Given the description of an element on the screen output the (x, y) to click on. 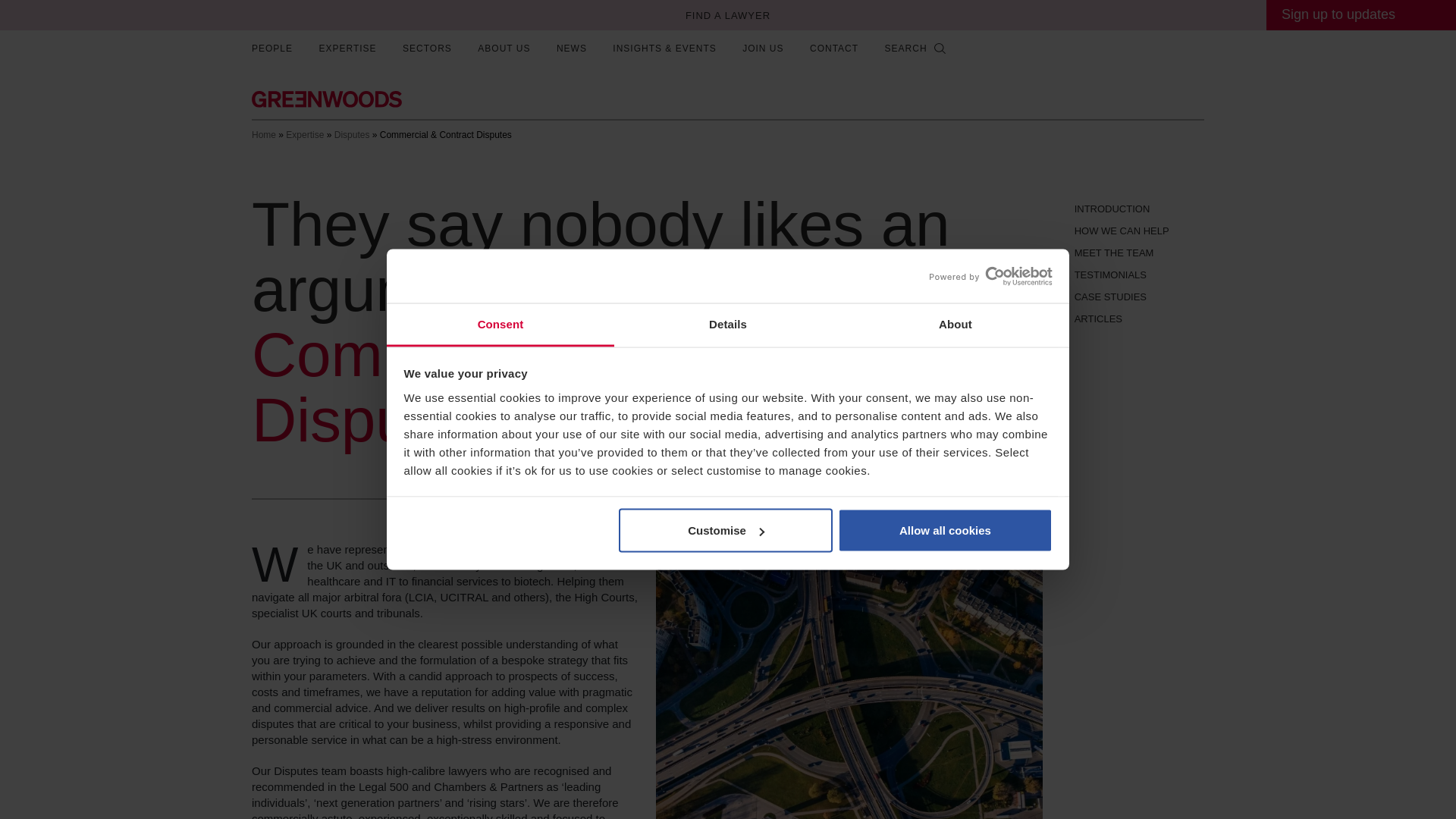
About (954, 324)
EXPERTISE (346, 43)
PEOPLE (271, 43)
ABOUT US (503, 43)
SECTORS (427, 43)
Details (727, 324)
Customise (725, 530)
Consent (500, 324)
Allow all cookies (944, 530)
